Given the description of an element on the screen output the (x, y) to click on. 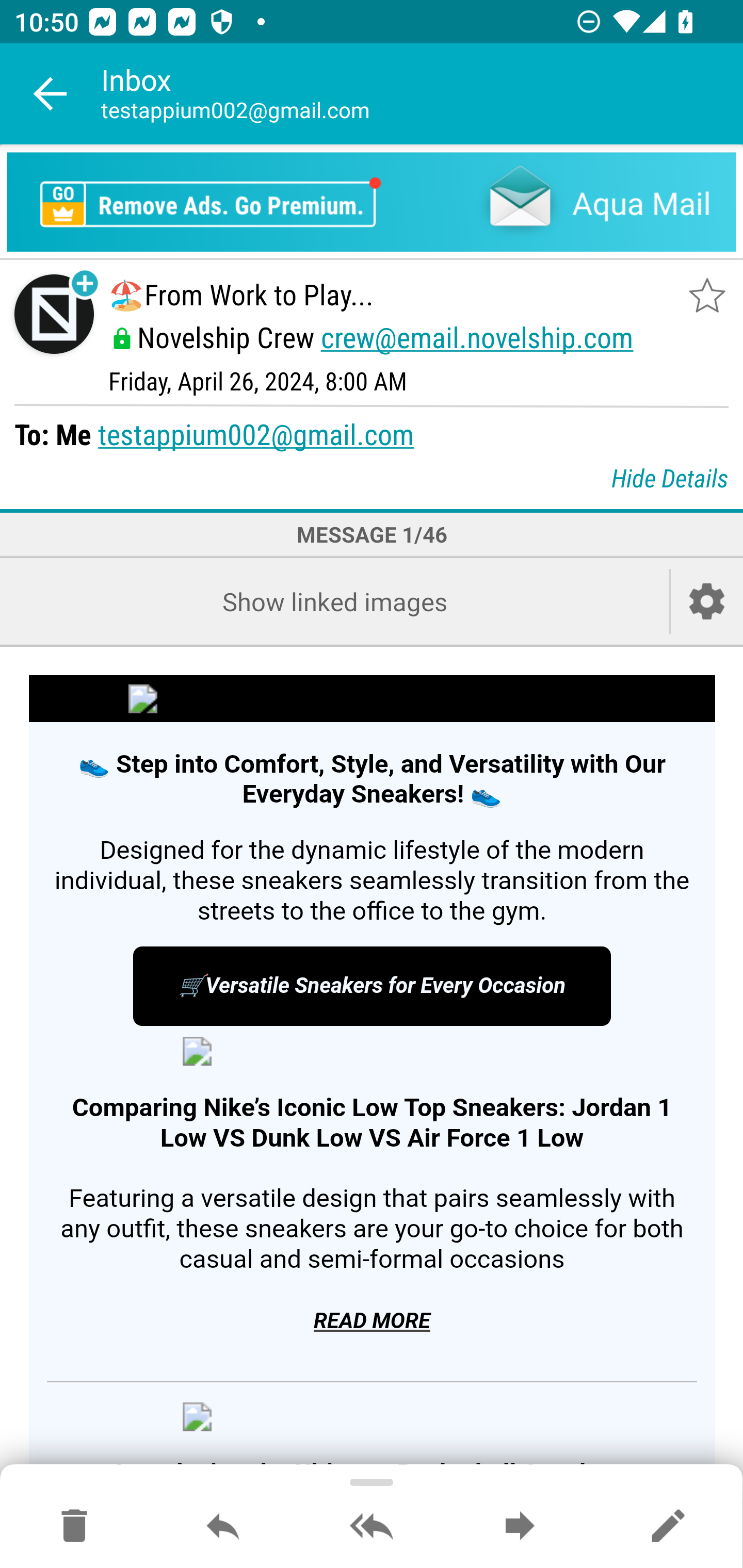
Navigate up (50, 93)
Inbox testappium002@gmail.com (422, 93)
Sender contact button (53, 314)
Show linked images (334, 601)
Account setup (706, 601)
Move to Deleted (74, 1527)
Reply (222, 1527)
Reply all (371, 1527)
Forward (519, 1527)
Reply as new (667, 1527)
